Given the description of an element on the screen output the (x, y) to click on. 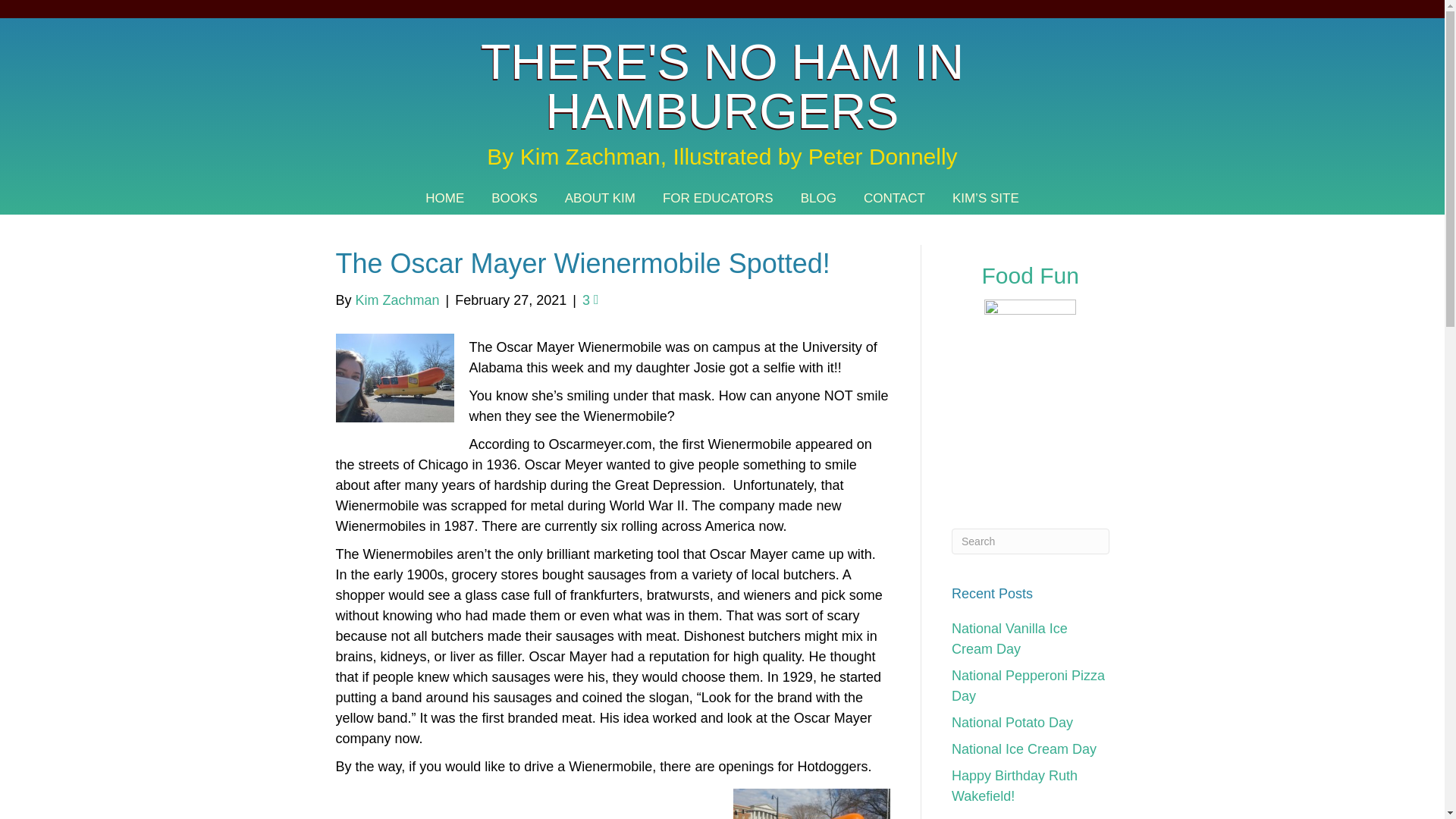
There's No Ham in Hamburgers (721, 86)
National Pepperoni Pizza Day (1028, 685)
3 (590, 299)
National Ice Cream Day (1024, 749)
Kim Zachman (397, 299)
FOR EDUCATORS (718, 197)
Type and press Enter to search. (1030, 540)
BLOG (818, 197)
ABOUT KIM (600, 197)
BOOKS (513, 197)
